Given the description of an element on the screen output the (x, y) to click on. 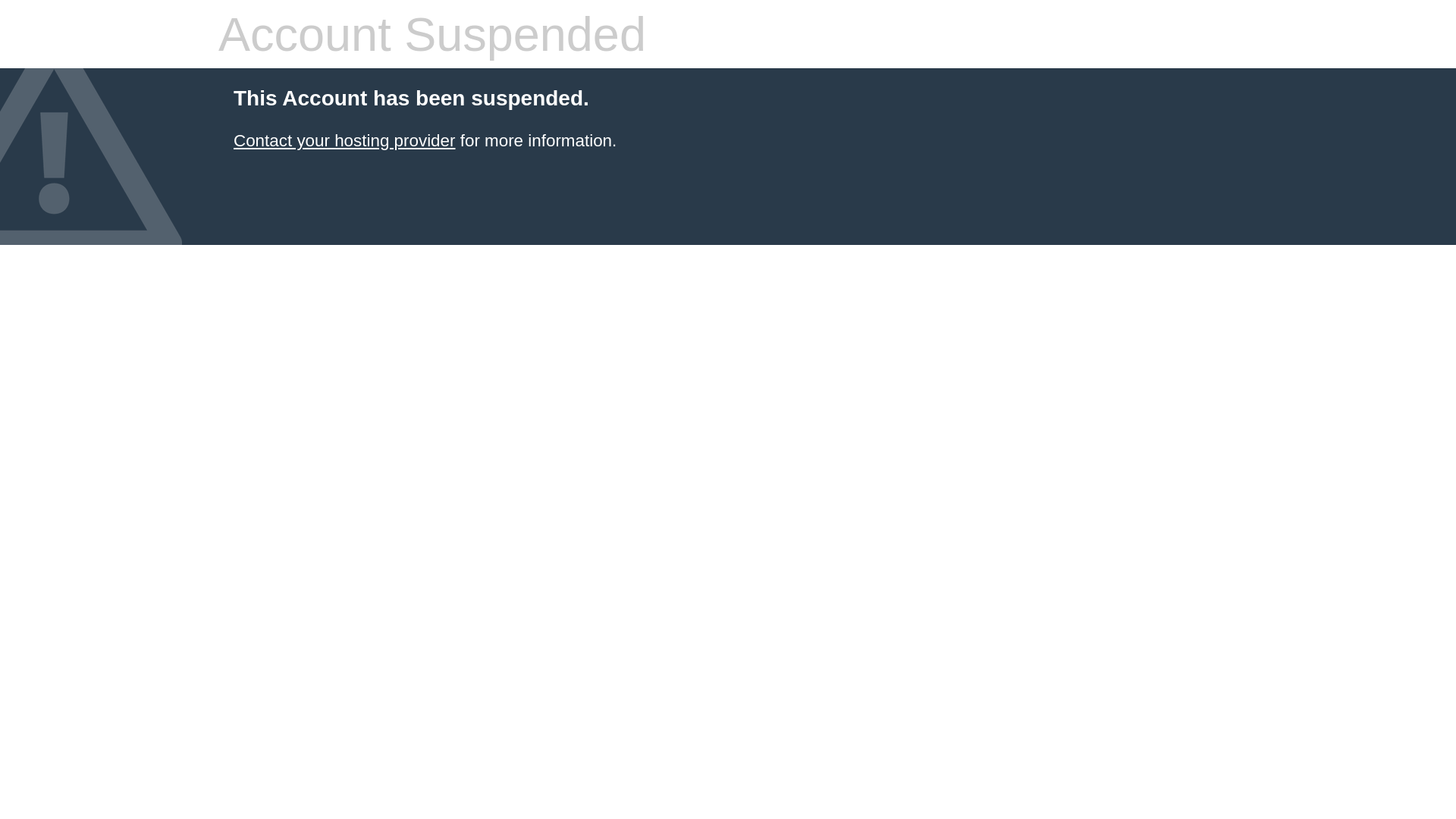
Contact your hosting provider Element type: text (344, 140)
